Given the description of an element on the screen output the (x, y) to click on. 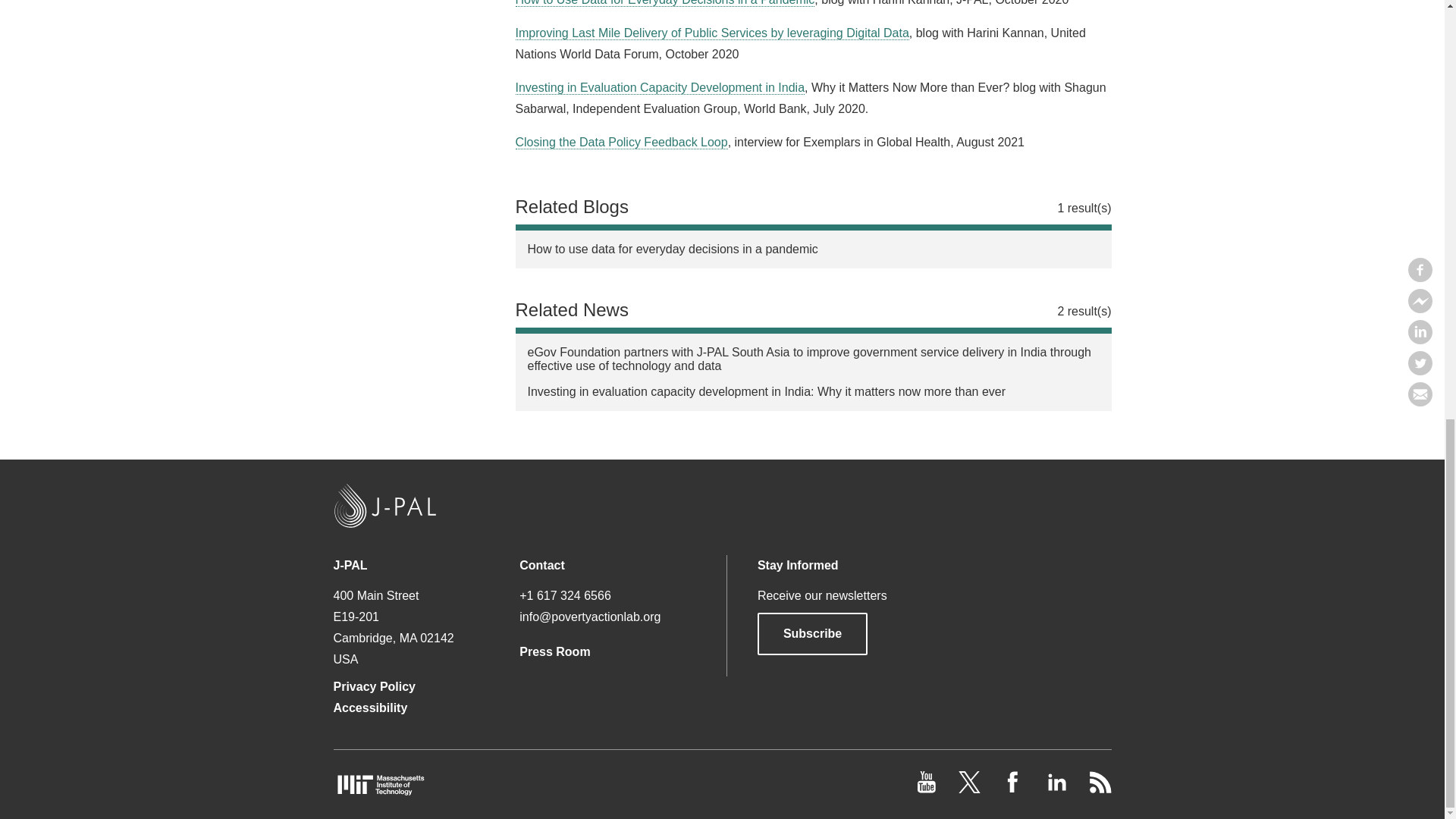
LinkedIn (1057, 788)
facebook (1015, 788)
youtube (927, 788)
twitter (971, 788)
rss feed (1099, 788)
